Given the description of an element on the screen output the (x, y) to click on. 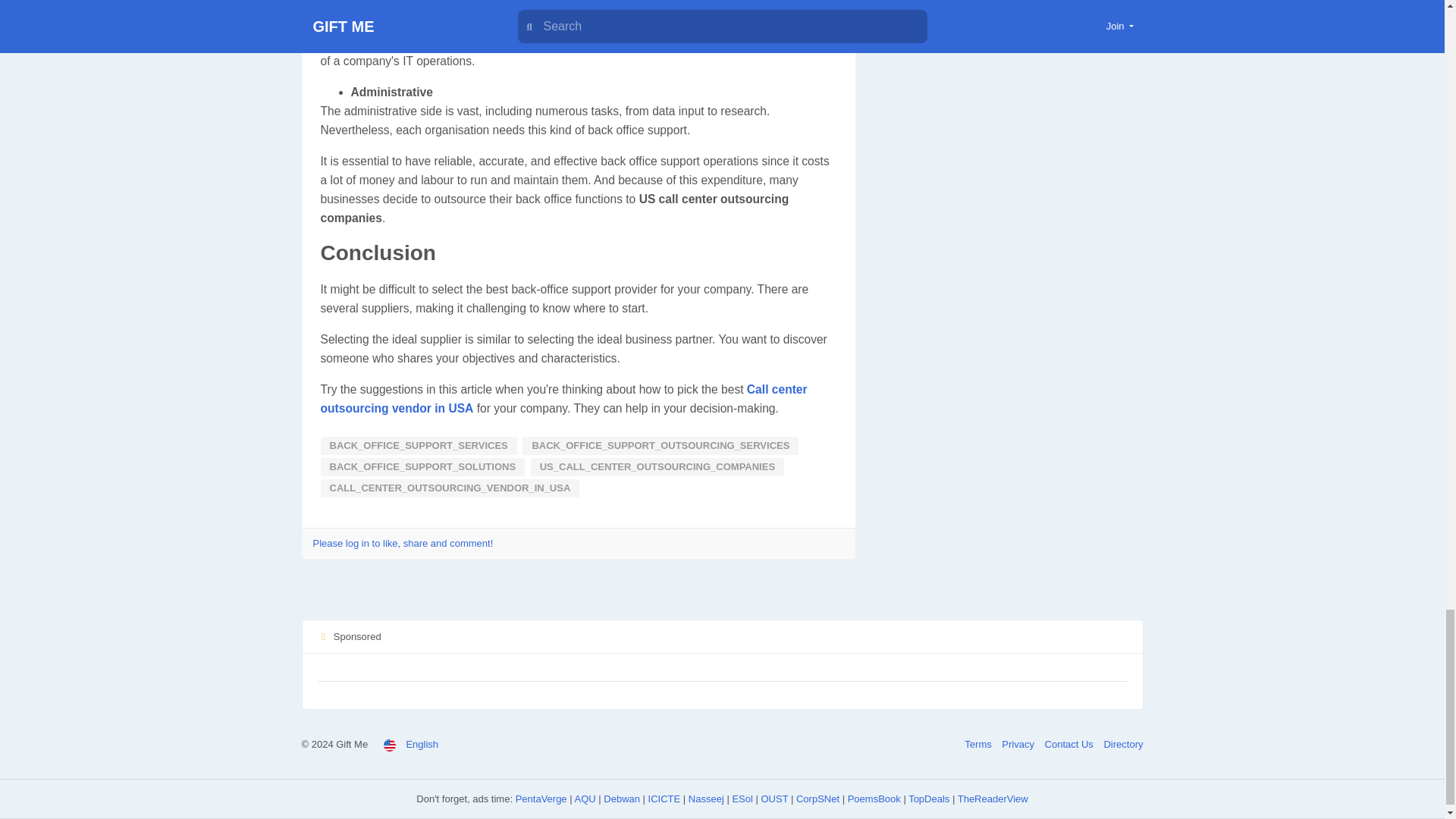
Call center outsourcing vendor in USA (563, 398)
Please log in to like, share and comment! (403, 542)
